Given the description of an element on the screen output the (x, y) to click on. 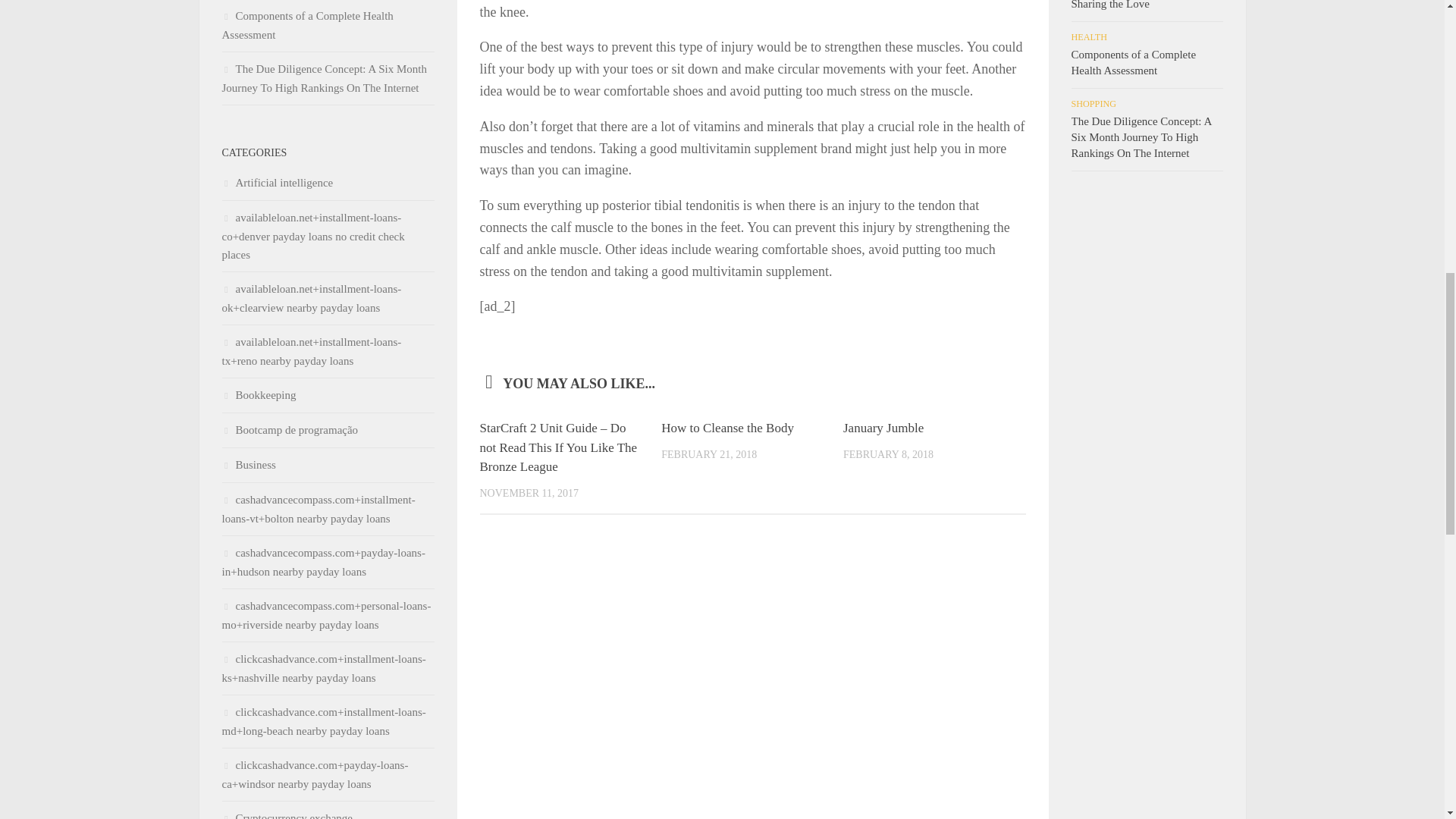
January Jumble (883, 427)
Permalink to January Jumble (883, 427)
How to Cleanse the Body (727, 427)
Permalink to How to Cleanse the Body (727, 427)
